Given the description of an element on the screen output the (x, y) to click on. 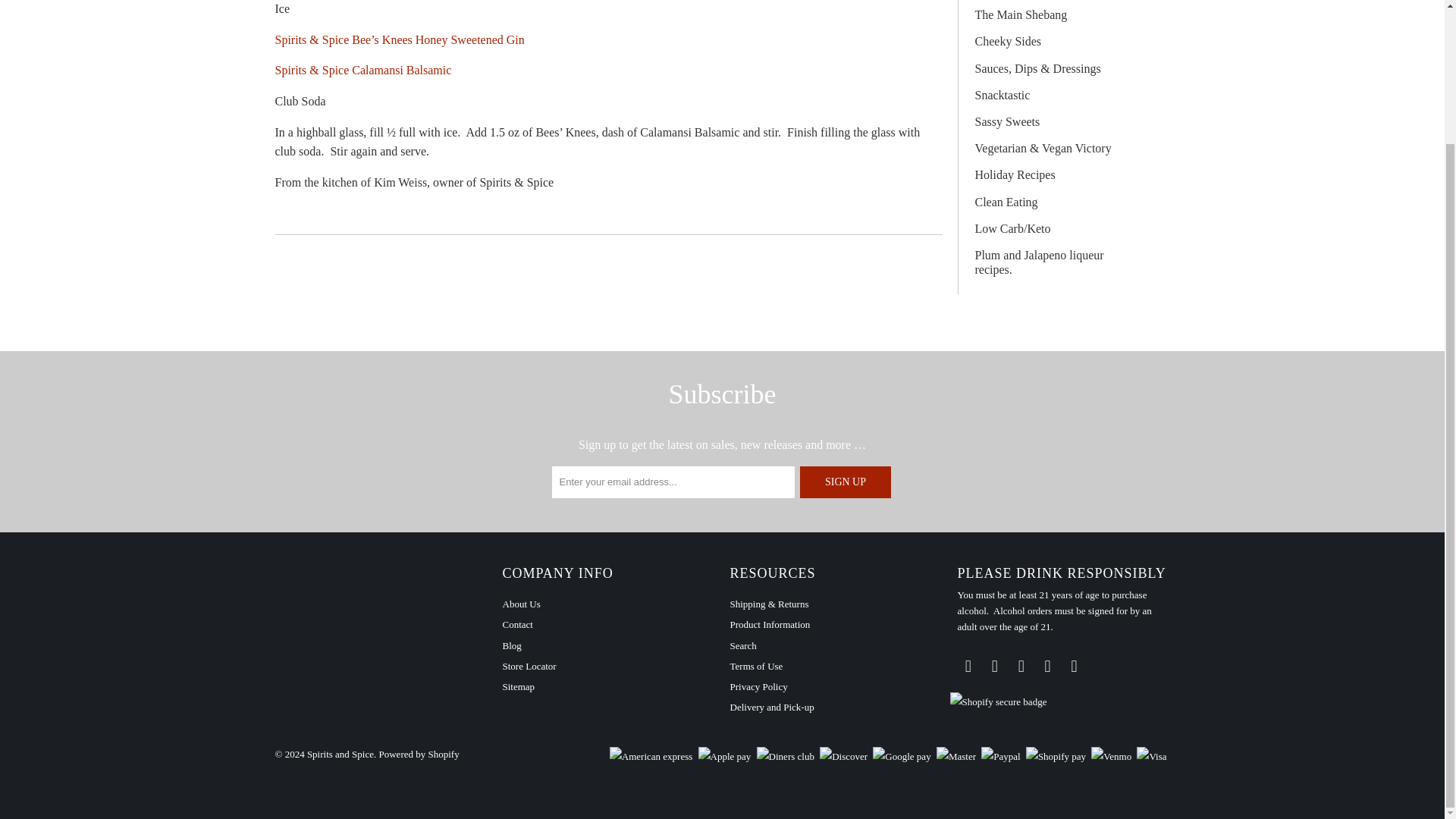
Spirits and Spice on Pinterest (1047, 666)
Spirits and Spice on Facebook (995, 666)
Spirits and Spice on Twitter (967, 666)
Spirits and Spice on Instagram (1074, 666)
This online store is secured by Shopify (997, 701)
Sign Up (845, 481)
Spirits and Spice on YouTube (1021, 666)
